Given the description of an element on the screen output the (x, y) to click on. 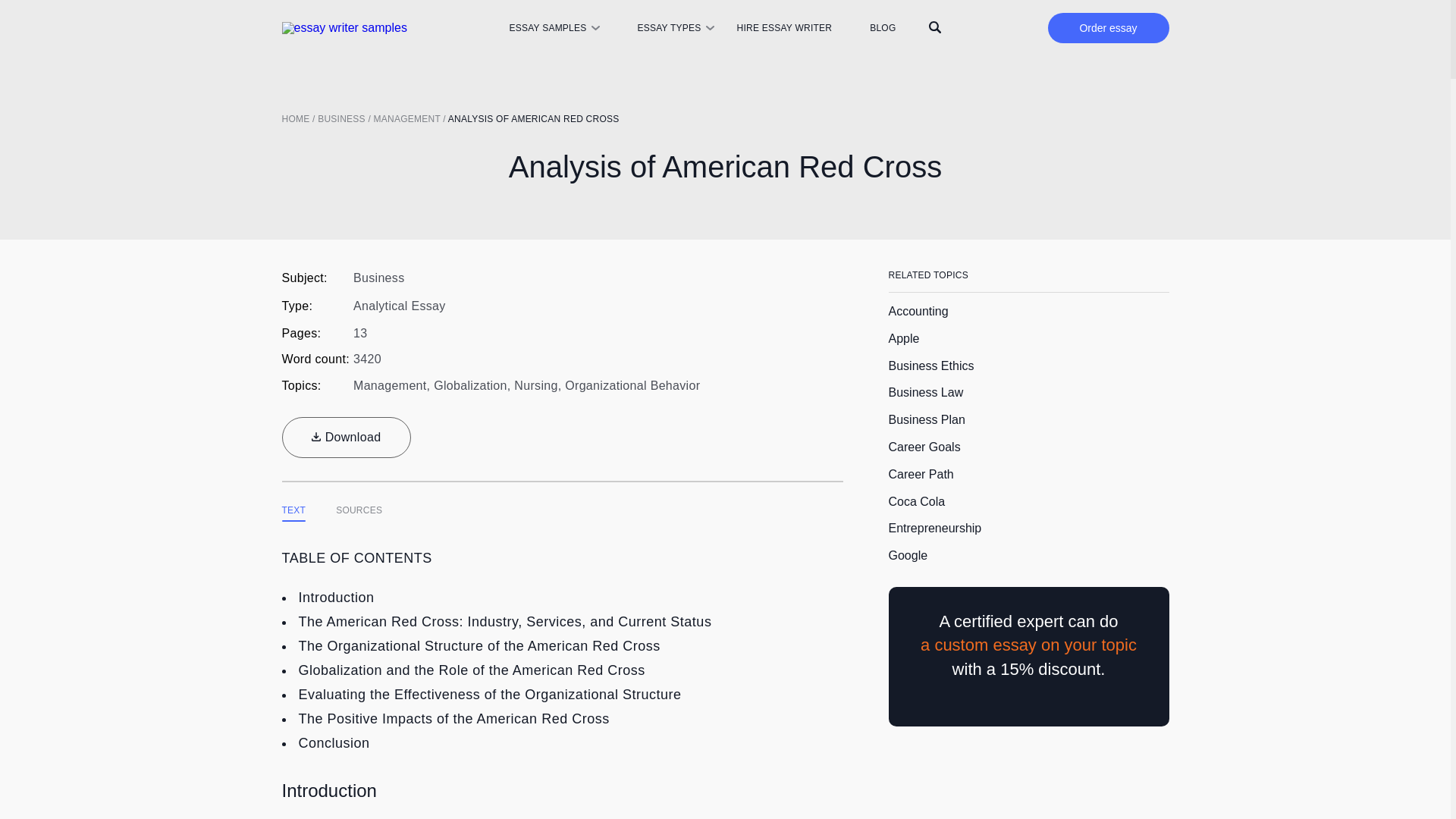
The Positive Impacts of the American Red Cross (454, 718)
Introduction (336, 597)
ESSAY TYPES (668, 28)
ESSAY SAMPLES (545, 28)
The Organizational Structure of the American Red Cross (479, 645)
Evaluating the Effectiveness of the Organizational Structure (489, 694)
Globalization and the Role of the American Red Cross (471, 670)
Conclusion (333, 743)
